Given the description of an element on the screen output the (x, y) to click on. 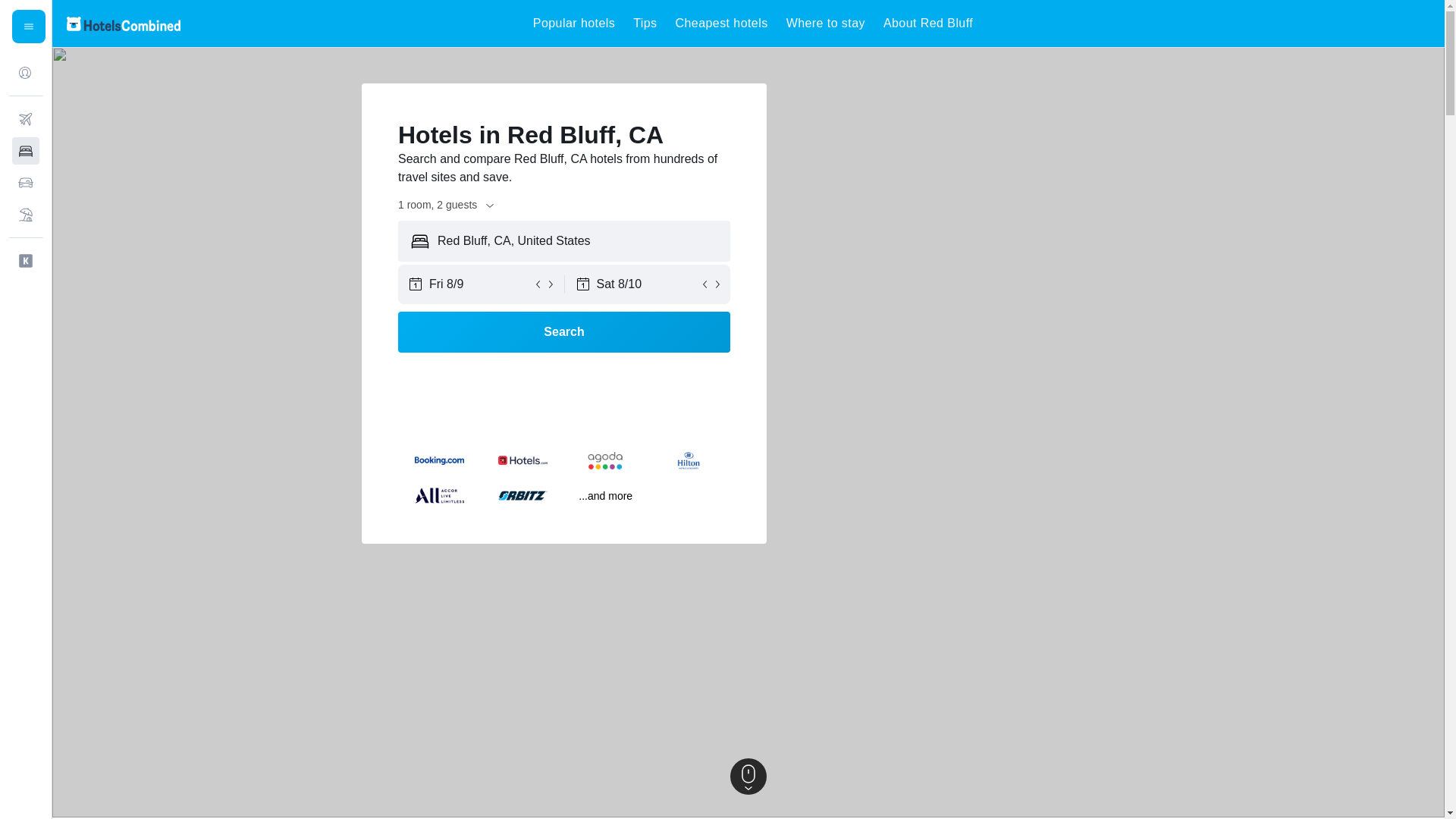
Search (563, 332)
Search (563, 332)
1 room, 2 guests (446, 205)
